Given the description of an element on the screen output the (x, y) to click on. 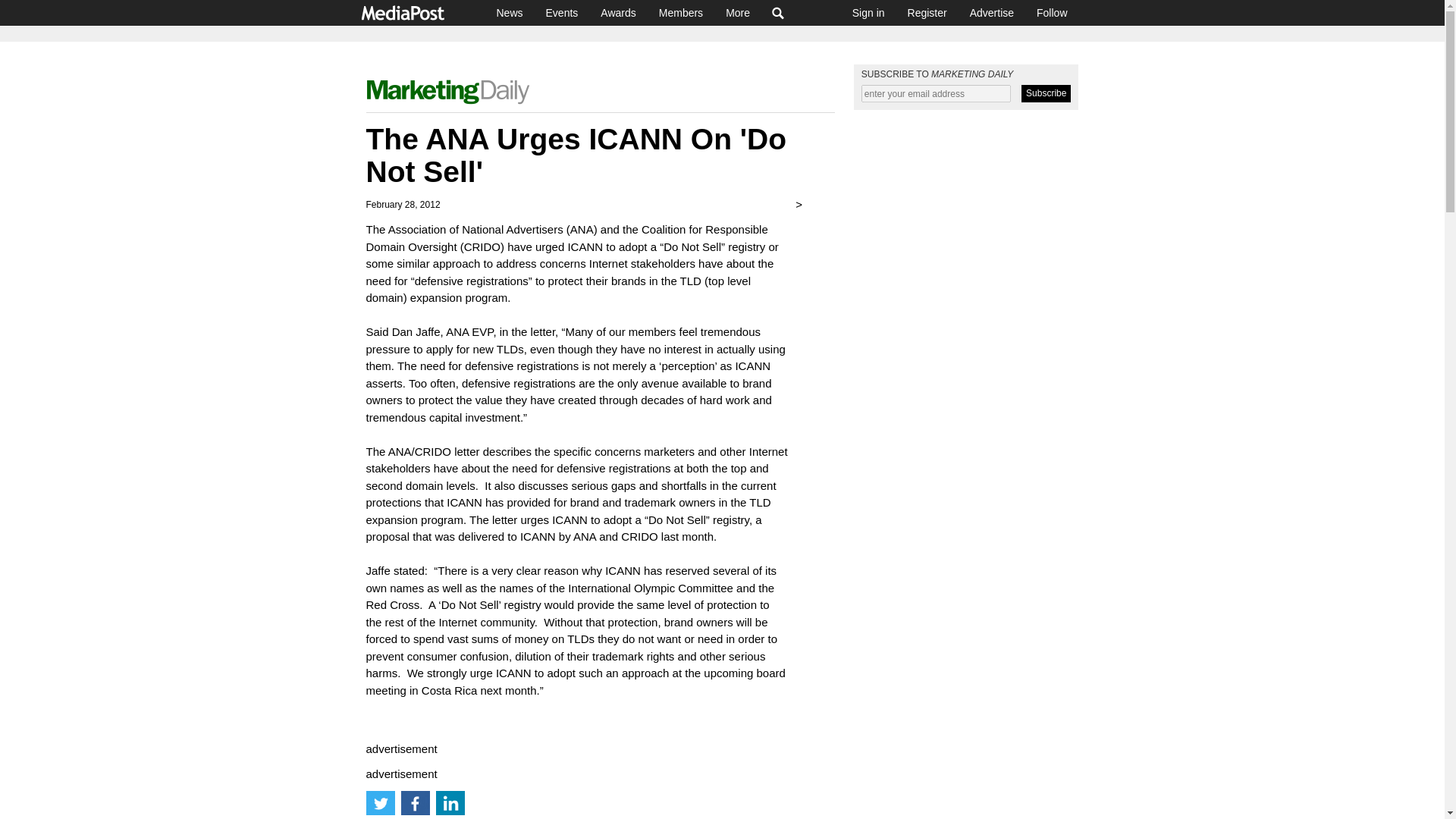
News (509, 12)
Share on LinkedIn (449, 802)
Subscribe (1046, 93)
Share on Twitter (379, 802)
Share on Facebook (414, 802)
